Given the description of an element on the screen output the (x, y) to click on. 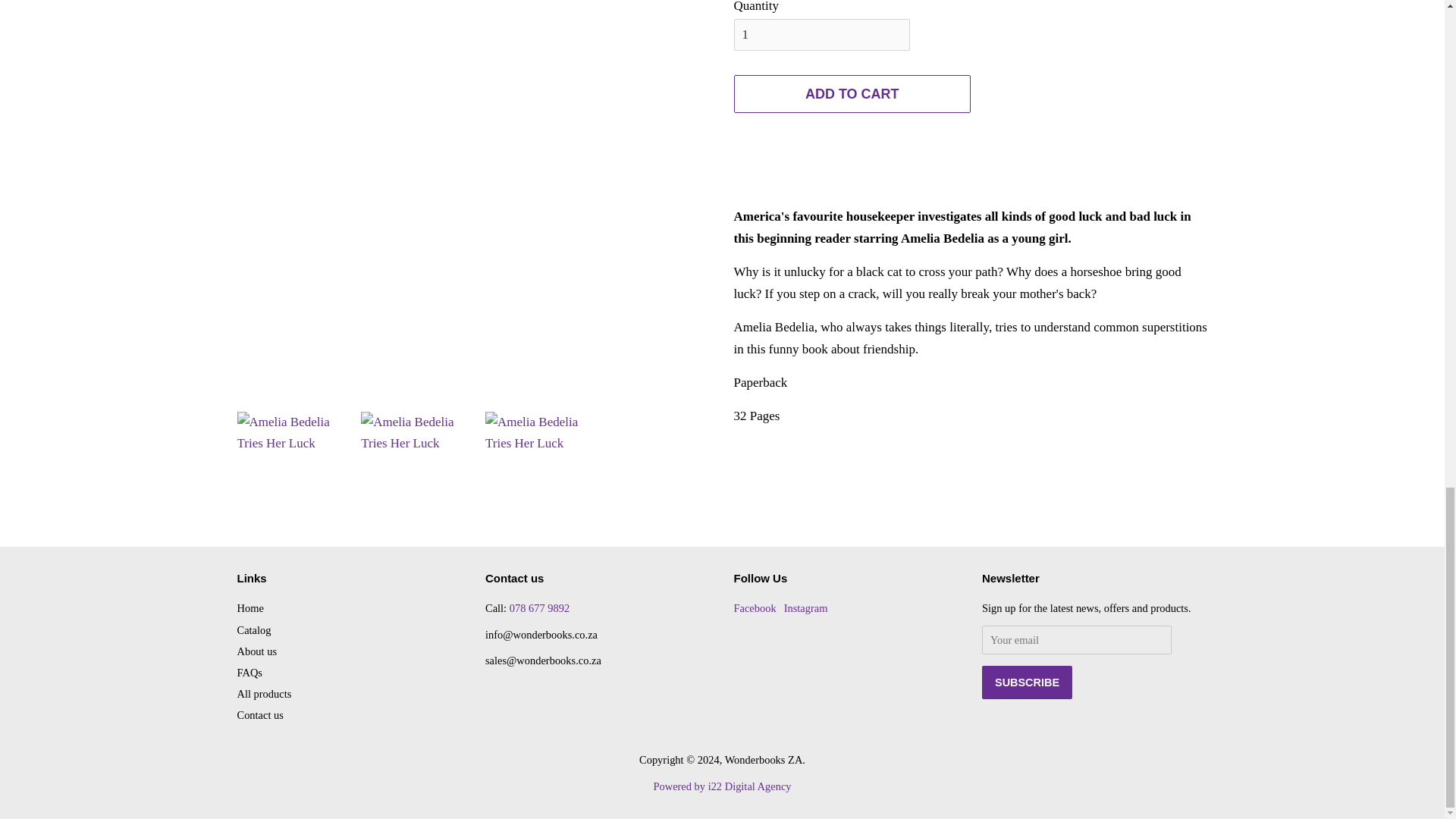
Wonderbooks ZA on Instagram (806, 607)
Contact us (258, 715)
078 677 9892 (539, 607)
About us (255, 651)
Home (249, 607)
Subscribe (1026, 682)
Catalog (252, 630)
Facebook (754, 607)
ADD TO CART (852, 94)
Instagram (806, 607)
